Given the description of an element on the screen output the (x, y) to click on. 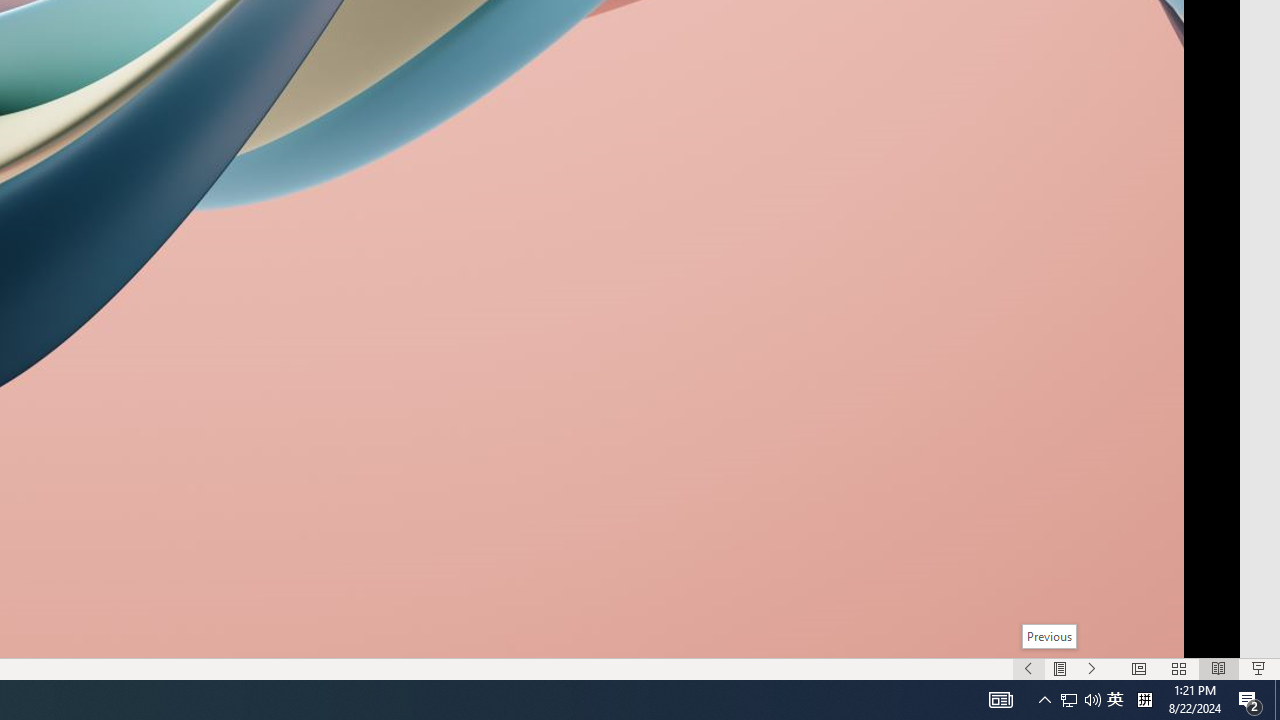
Previous (1048, 636)
Slide Show Previous On (1028, 668)
Slide Show Next On (1092, 668)
Menu On (1060, 668)
